Given the description of an element on the screen output the (x, y) to click on. 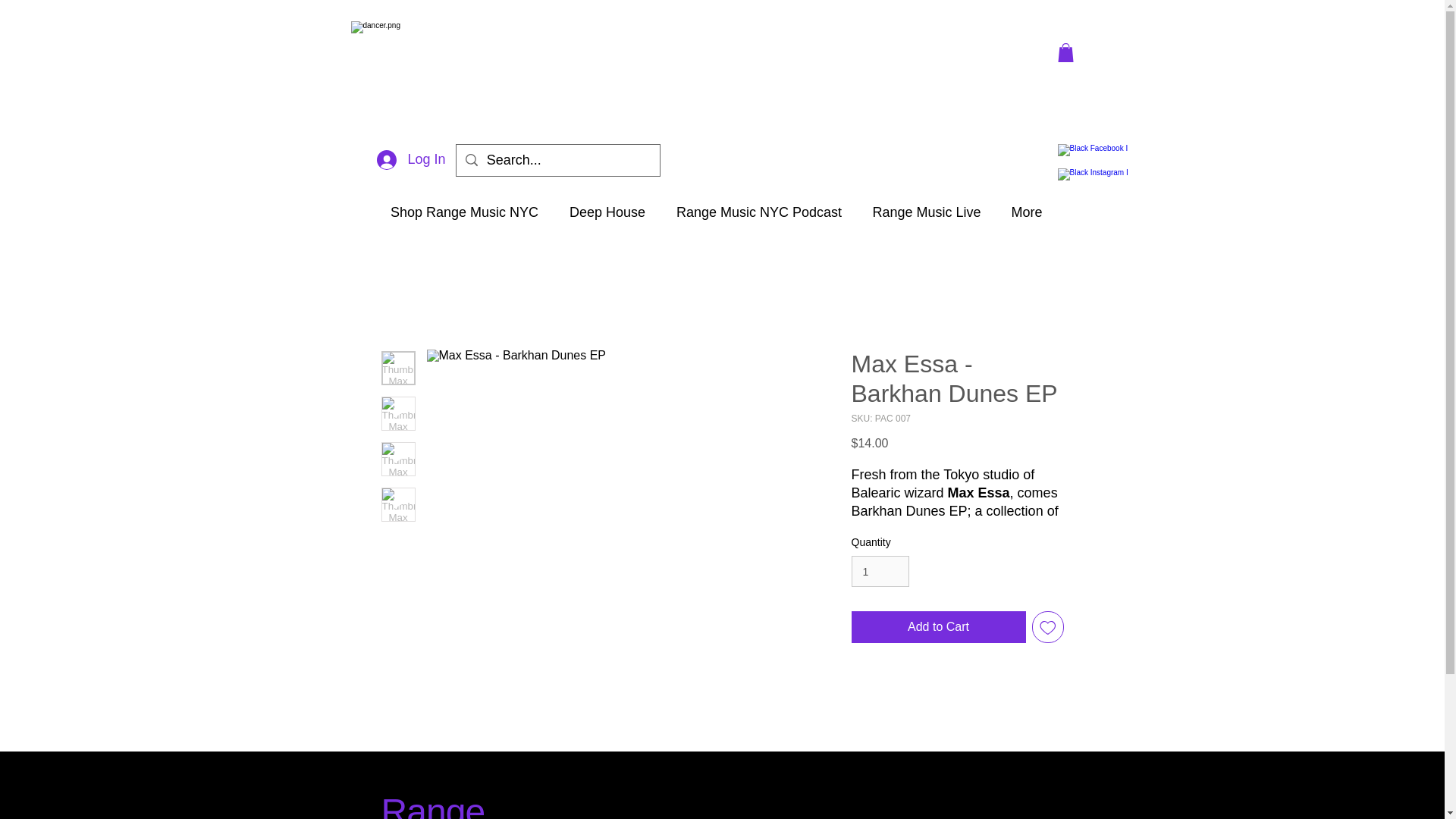
Range Music Live (926, 212)
Do Not Sell My Personal Information (951, 772)
Deep House (607, 212)
Add to Cart (937, 626)
Range Music NYC Podcast (759, 212)
Shop Range Music NYC (463, 212)
Log In (410, 159)
1 (879, 571)
